Given the description of an element on the screen output the (x, y) to click on. 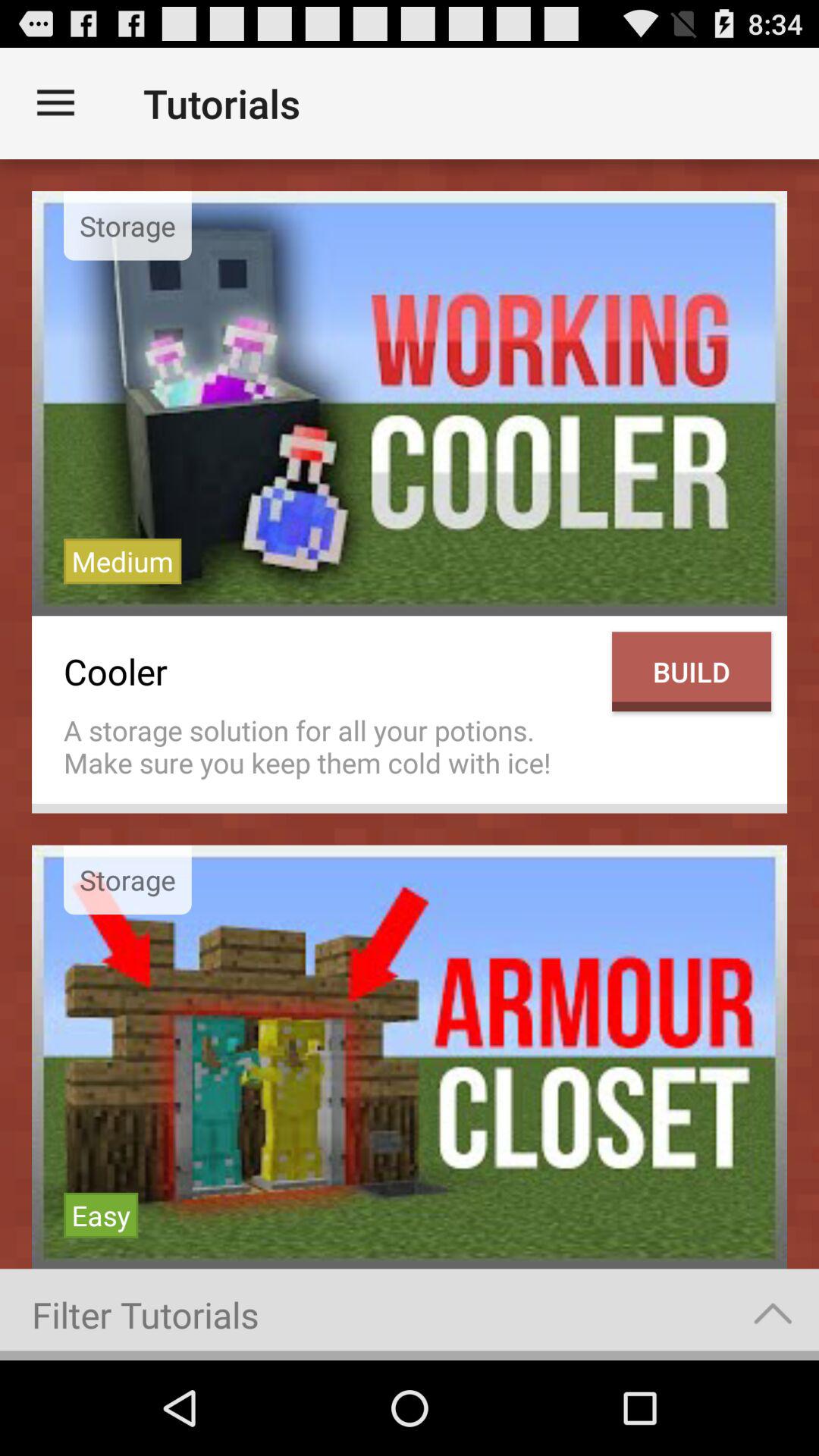
swipe to a storage solution (329, 746)
